Given the description of an element on the screen output the (x, y) to click on. 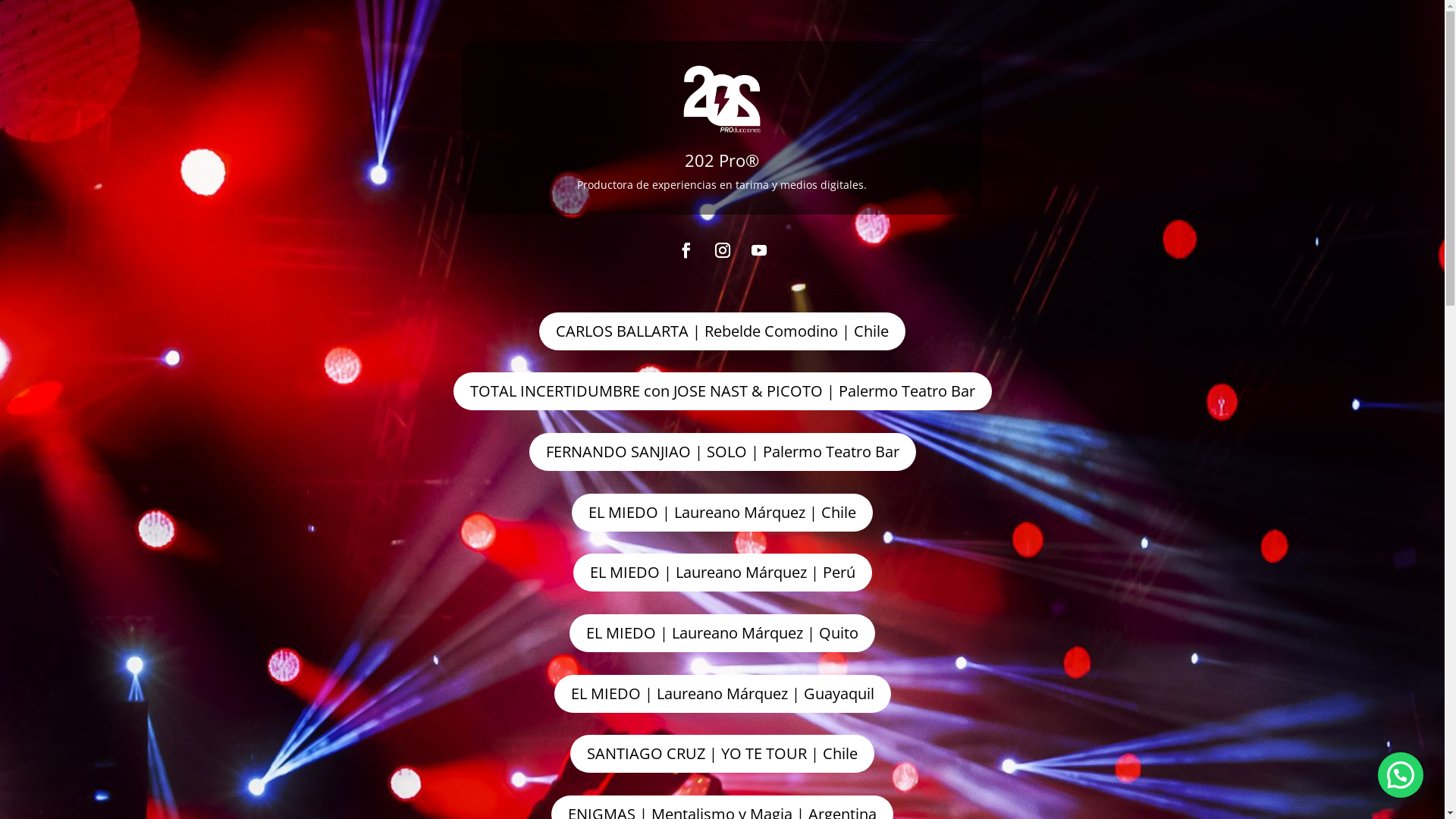
SANTIAGO CRUZ | YO TE TOUR | Chile Element type: text (722, 753)
Seguir en Instagram Element type: hover (721, 250)
_LOGO_202_2 (1) Element type: hover (722, 99)
CARLOS BALLARTA | Rebelde Comodino | Chile Element type: text (722, 331)
FERNANDO SANJIAO | SOLO | Palermo Teatro Bar Element type: text (722, 451)
Seguir en Facebook Element type: hover (685, 250)
Seguir en Youtube Element type: hover (758, 250)
